Given the description of an element on the screen output the (x, y) to click on. 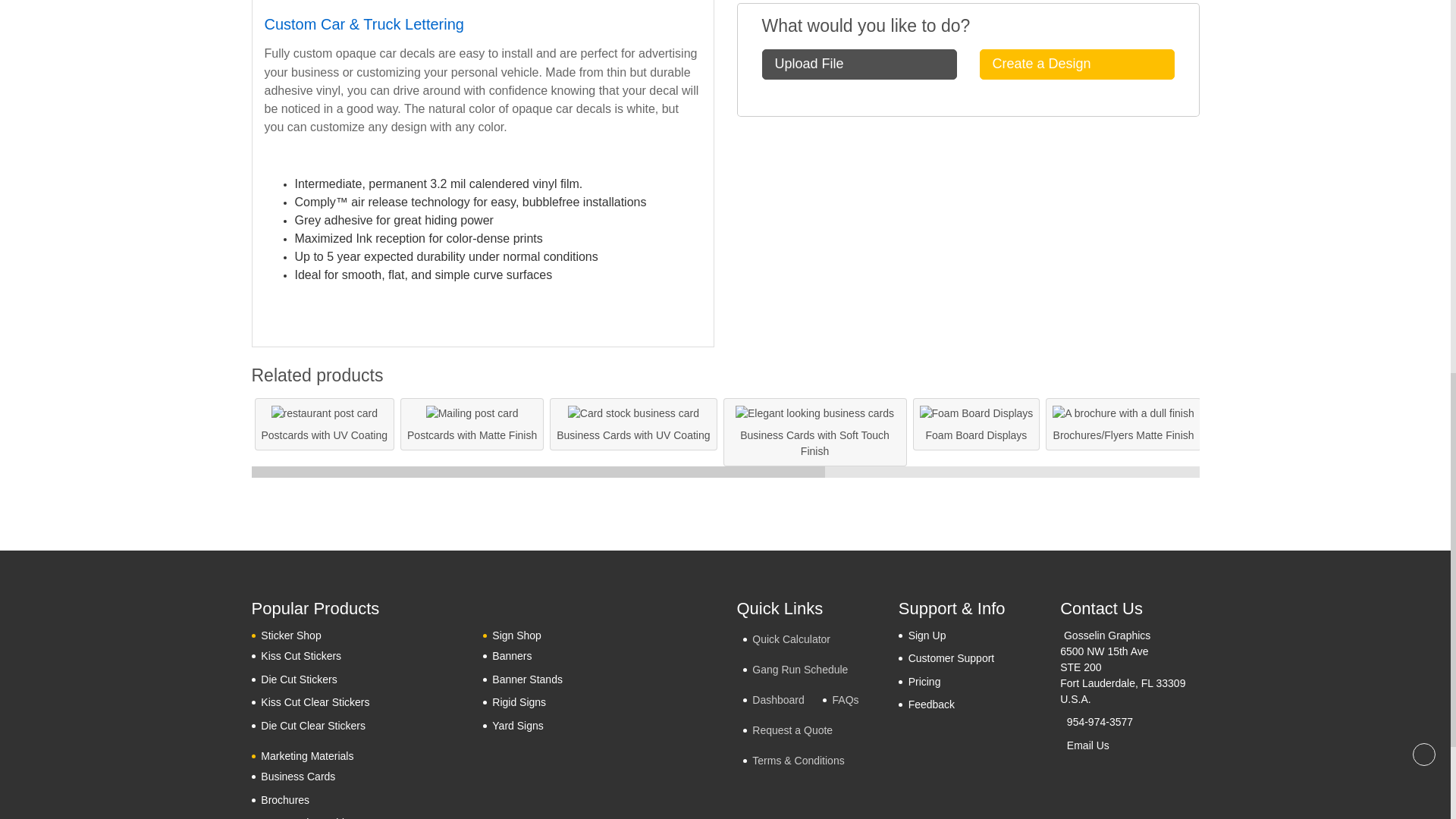
Pricing (919, 681)
Postcards with Matte Finish (472, 413)
Feedback (926, 704)
Customer Support (946, 658)
Postcards with UV Coating (324, 413)
Business Cards with UV Coating (632, 413)
Foam Board Displays (976, 413)
Sign Up (922, 635)
Business Cards with Soft Touch Finish (814, 413)
